Given the description of an element on the screen output the (x, y) to click on. 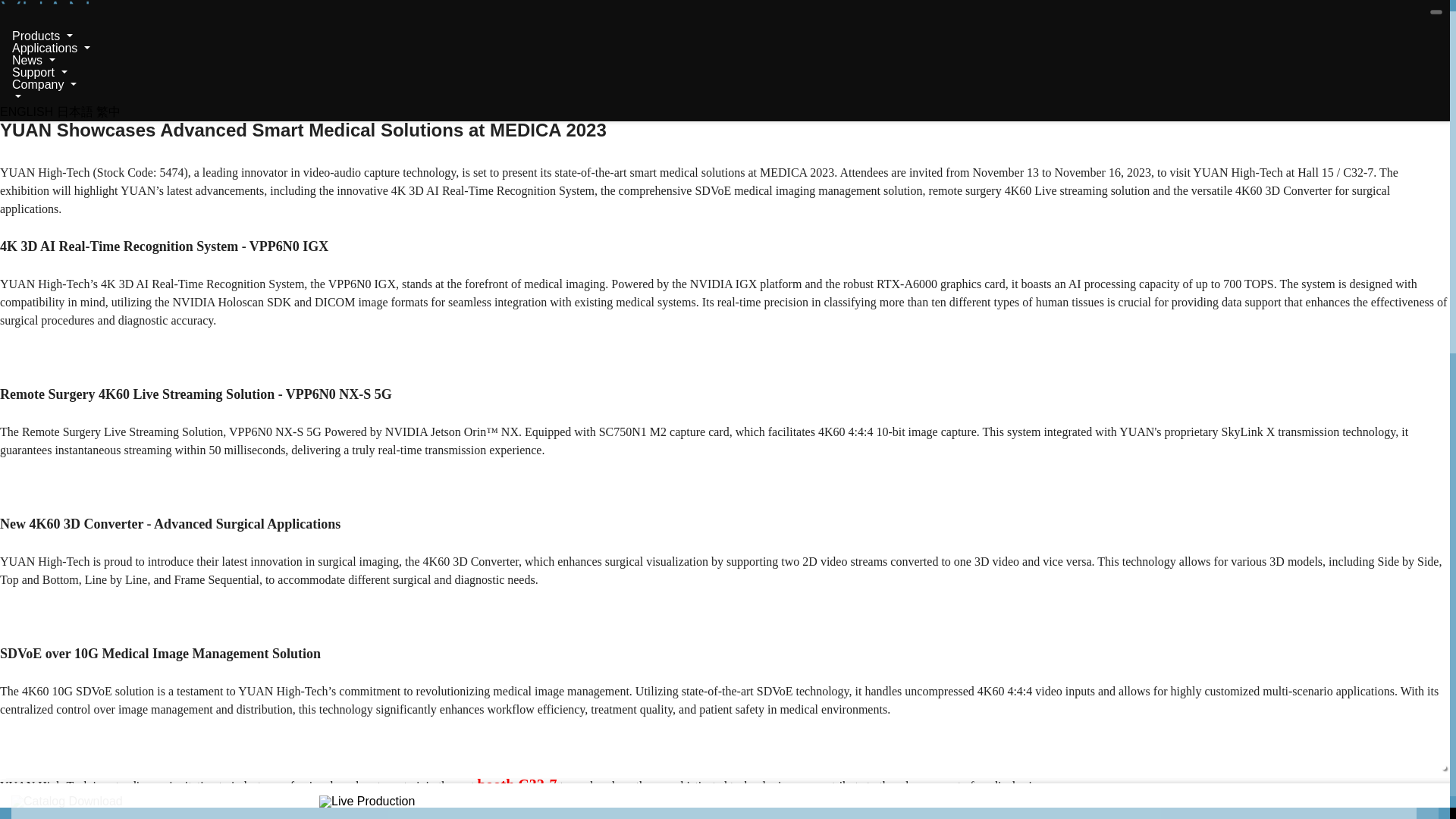
News (33, 59)
Products (42, 35)
Platform (402, 795)
Applications (50, 47)
